Given the description of an element on the screen output the (x, y) to click on. 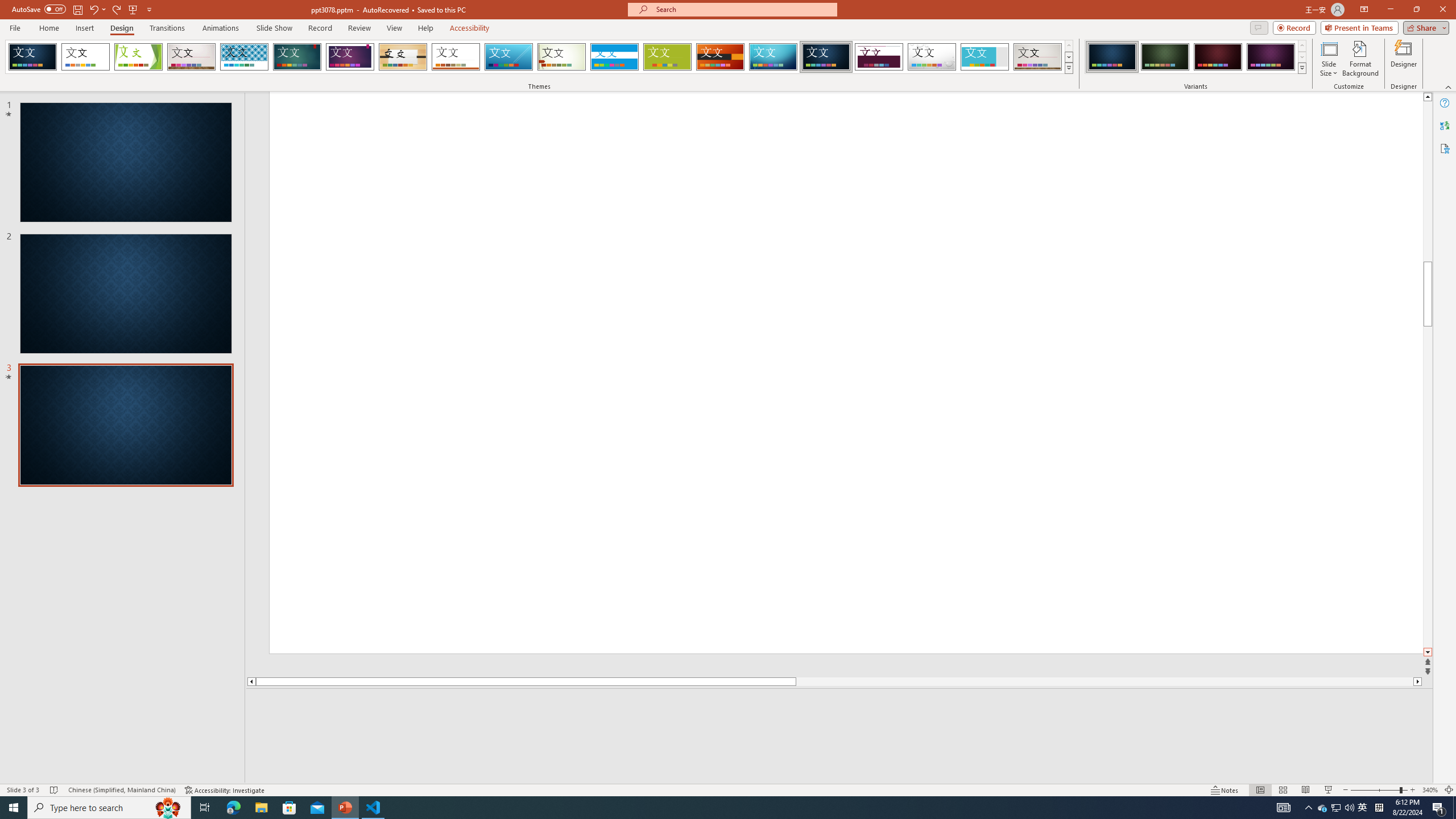
Damask Variant 3 (1217, 56)
Circuit (772, 56)
Basis (667, 56)
